Given the description of an element on the screen output the (x, y) to click on. 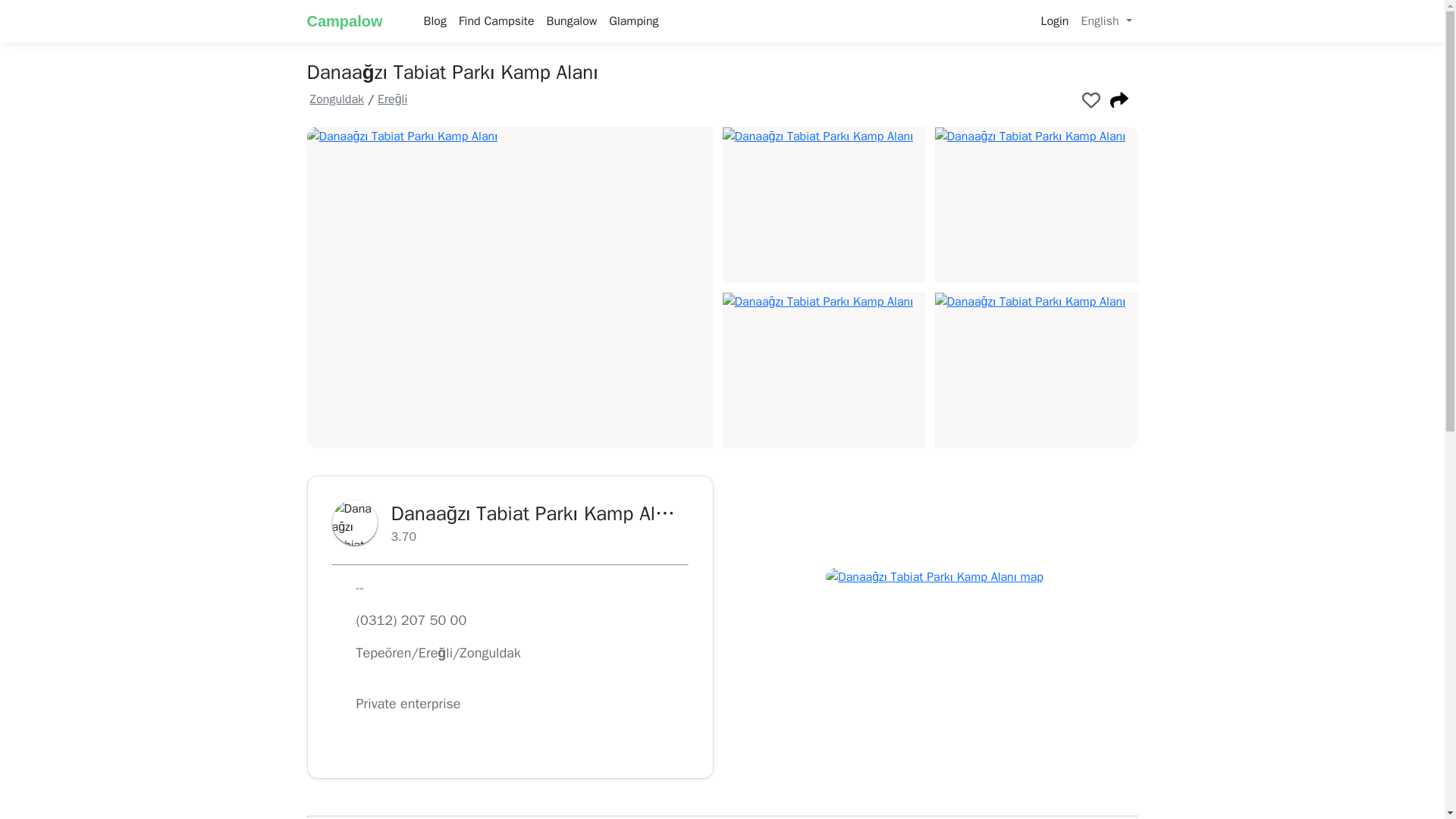
Login (1053, 20)
Bungalow (572, 20)
Glamping (632, 20)
Zonguldak (336, 99)
English (1105, 20)
Blog (434, 20)
Campalow (354, 20)
Find Campsite (496, 20)
